Given the description of an element on the screen output the (x, y) to click on. 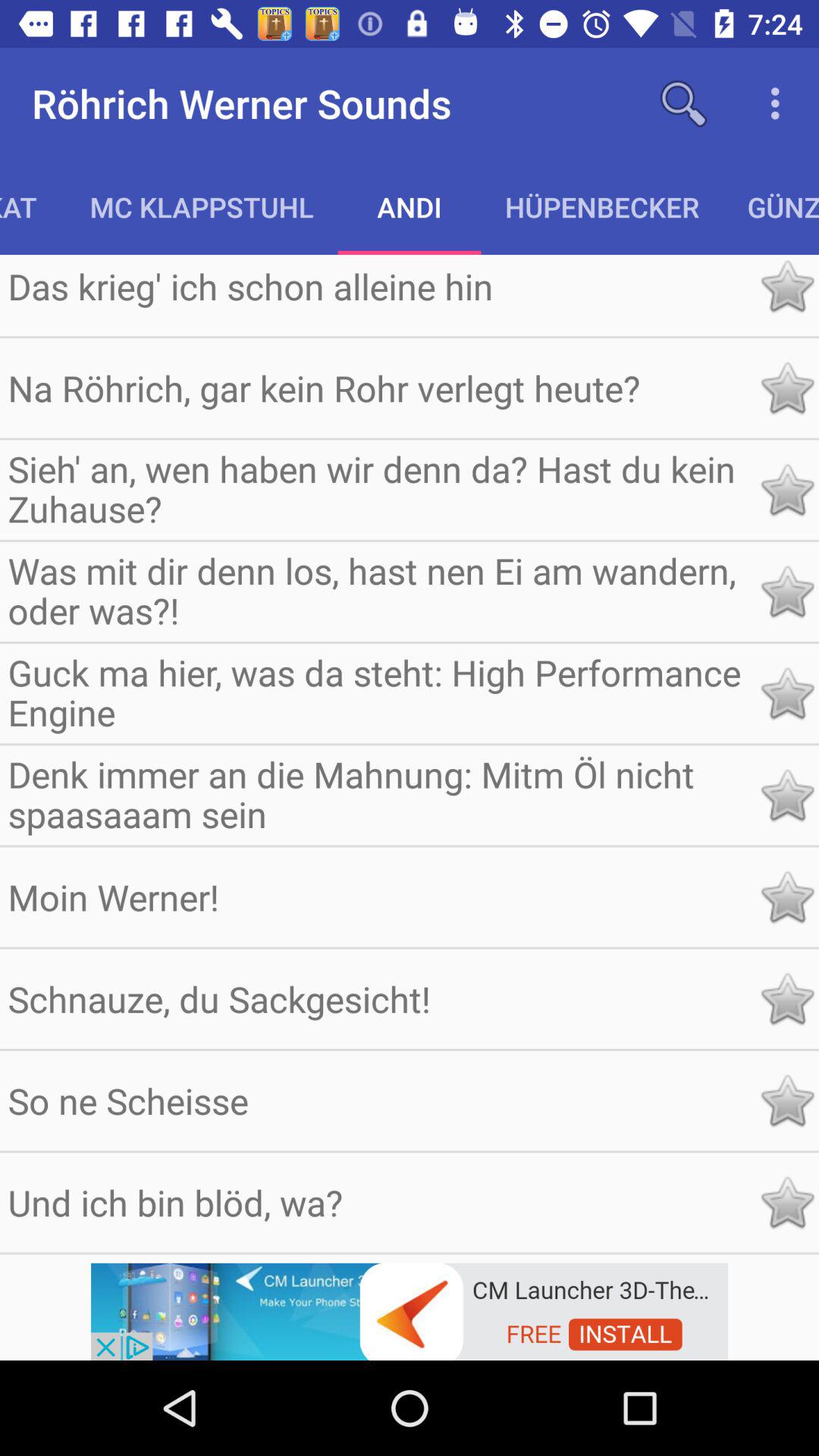
add to favorites (787, 387)
